Given the description of an element on the screen output the (x, y) to click on. 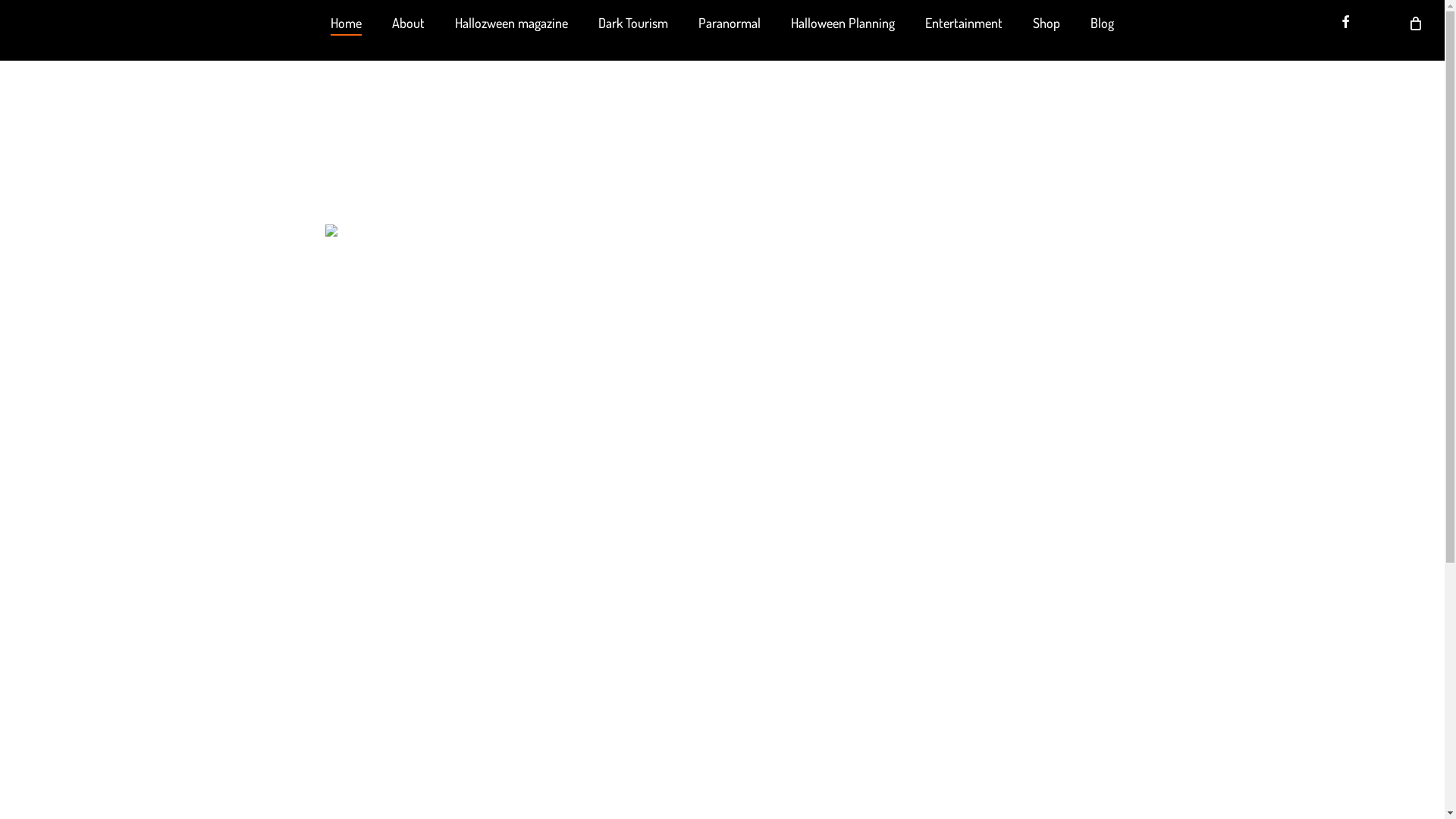
facebook Element type: text (1344, 22)
facebook Element type: text (669, 649)
About Element type: text (408, 22)
Results Digital Element type: text (741, 756)
instagram Element type: text (775, 649)
Entertainment Element type: text (963, 22)
tiktok Element type: text (828, 649)
Contact us Element type: text (647, 699)
Home Element type: text (345, 22)
Hallozween magazine Element type: text (511, 22)
Shop Element type: text (1046, 22)
Paranormal Element type: text (729, 22)
Halloween Planning Element type: text (842, 22)
Website Terms Element type: text (788, 699)
Blog Element type: text (1101, 22)
linkedin Element type: text (722, 649)
Dark Tourism Element type: text (633, 22)
twitter Element type: text (616, 649)
Refund Policy Element type: text (715, 699)
